Given the description of an element on the screen output the (x, y) to click on. 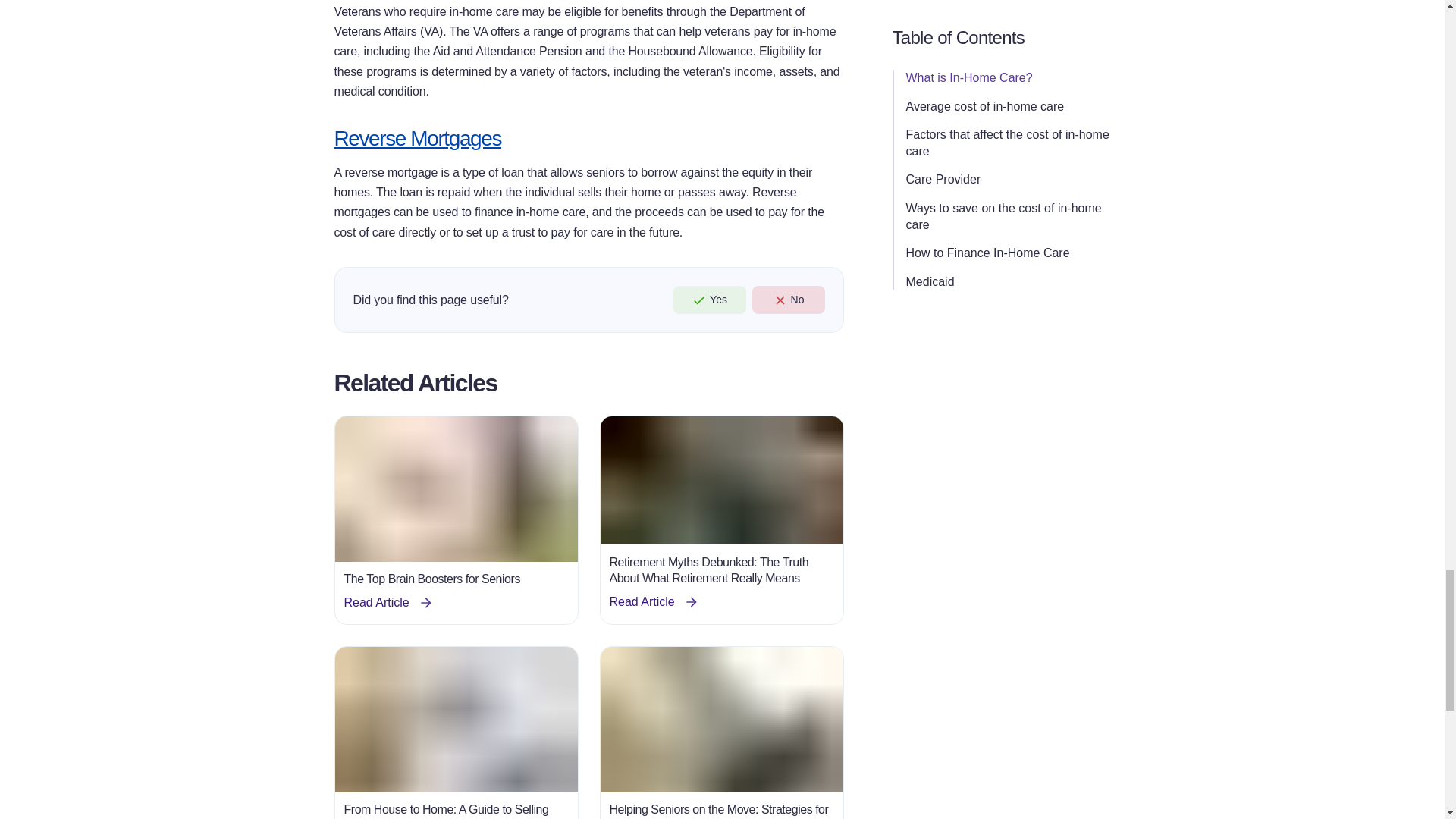
Reverse Mortgages (416, 137)
